Given the description of an element on the screen output the (x, y) to click on. 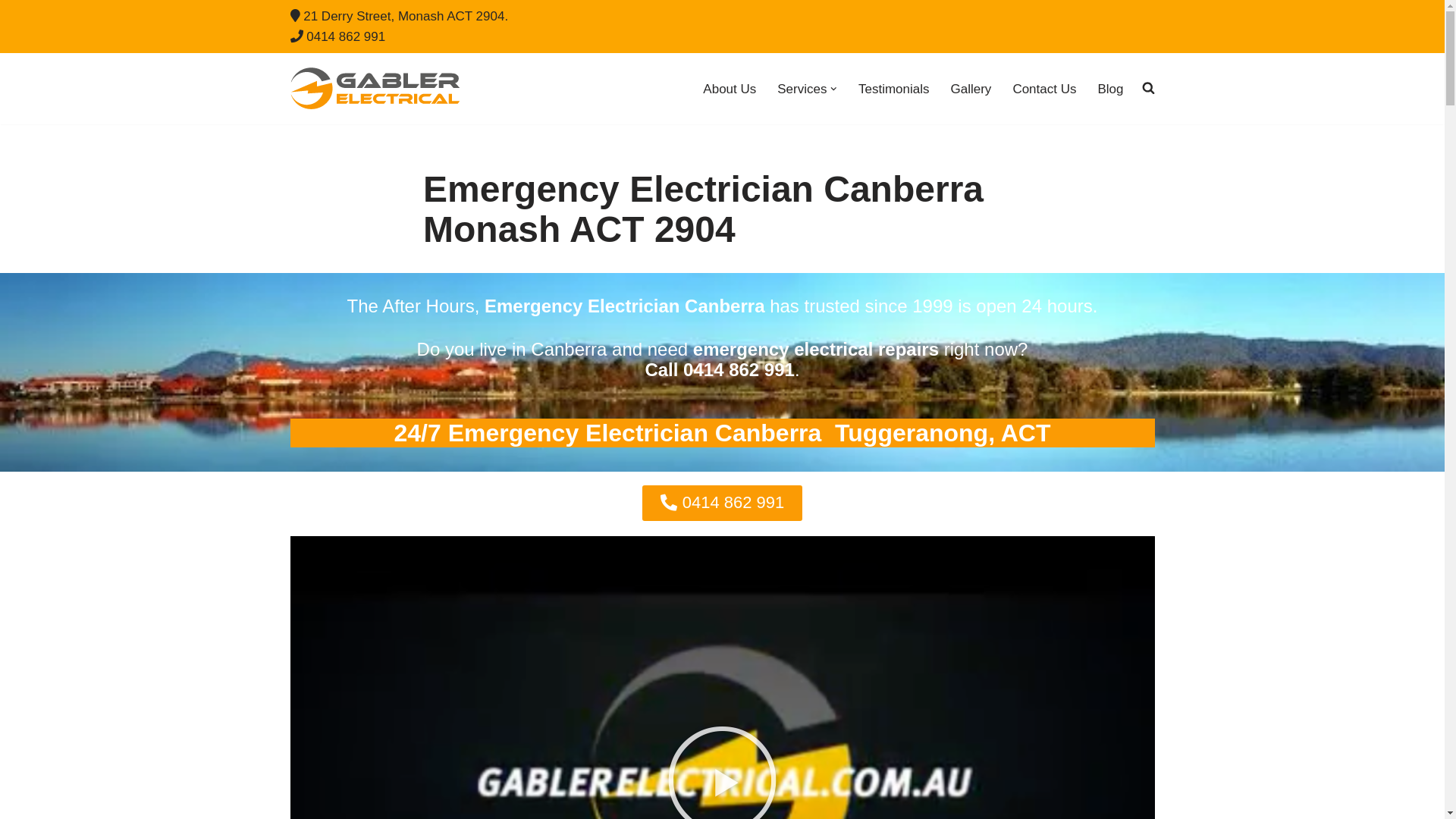
Contact Us Element type: text (1044, 88)
About Us Element type: text (729, 88)
0414 862 991 Element type: text (722, 502)
Skip to content Element type: text (11, 31)
Services Element type: text (801, 88)
Gallery Element type: text (970, 88)
0414 862 991 Element type: text (345, 36)
Blog Element type: text (1110, 88)
Testimonials Element type: text (893, 88)
